Given the description of an element on the screen output the (x, y) to click on. 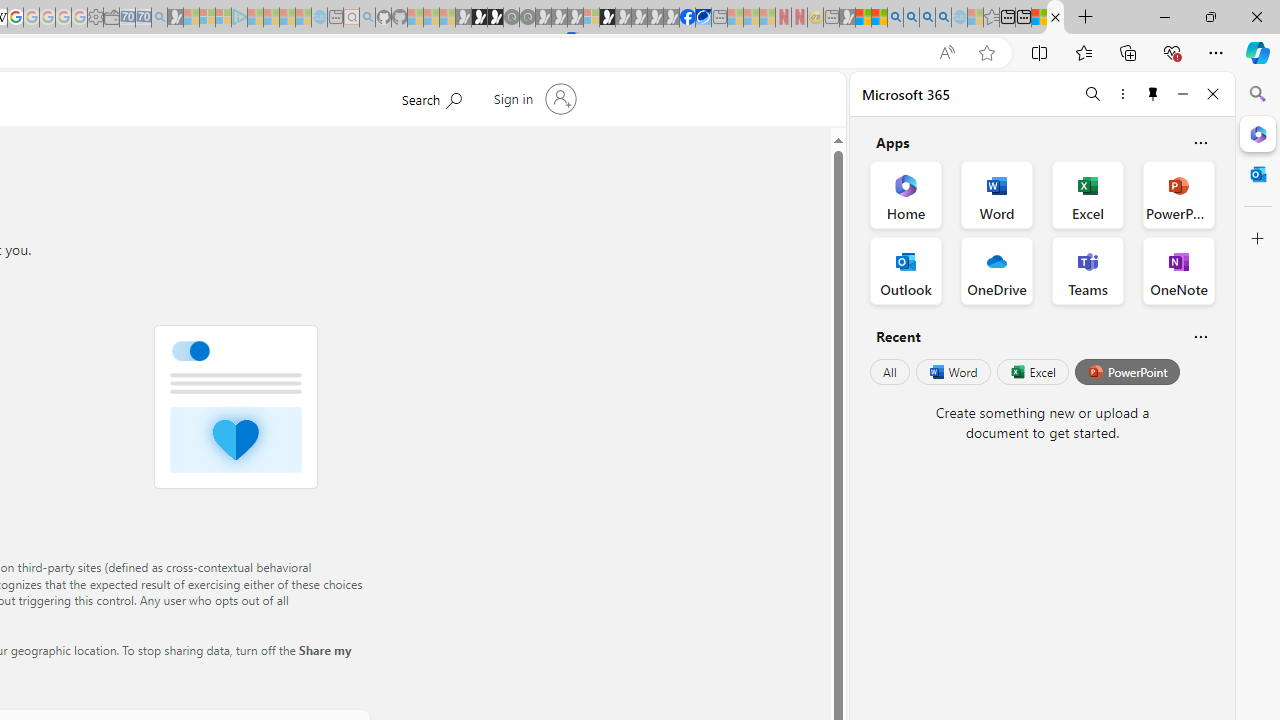
Teams Office App (1087, 270)
Home | Sky Blue Bikes - Sky Blue Bikes - Sleeping (319, 17)
Google Chrome Internet Browser Download - Search Images (943, 17)
Nordace | Facebook (687, 17)
